Given the description of an element on the screen output the (x, y) to click on. 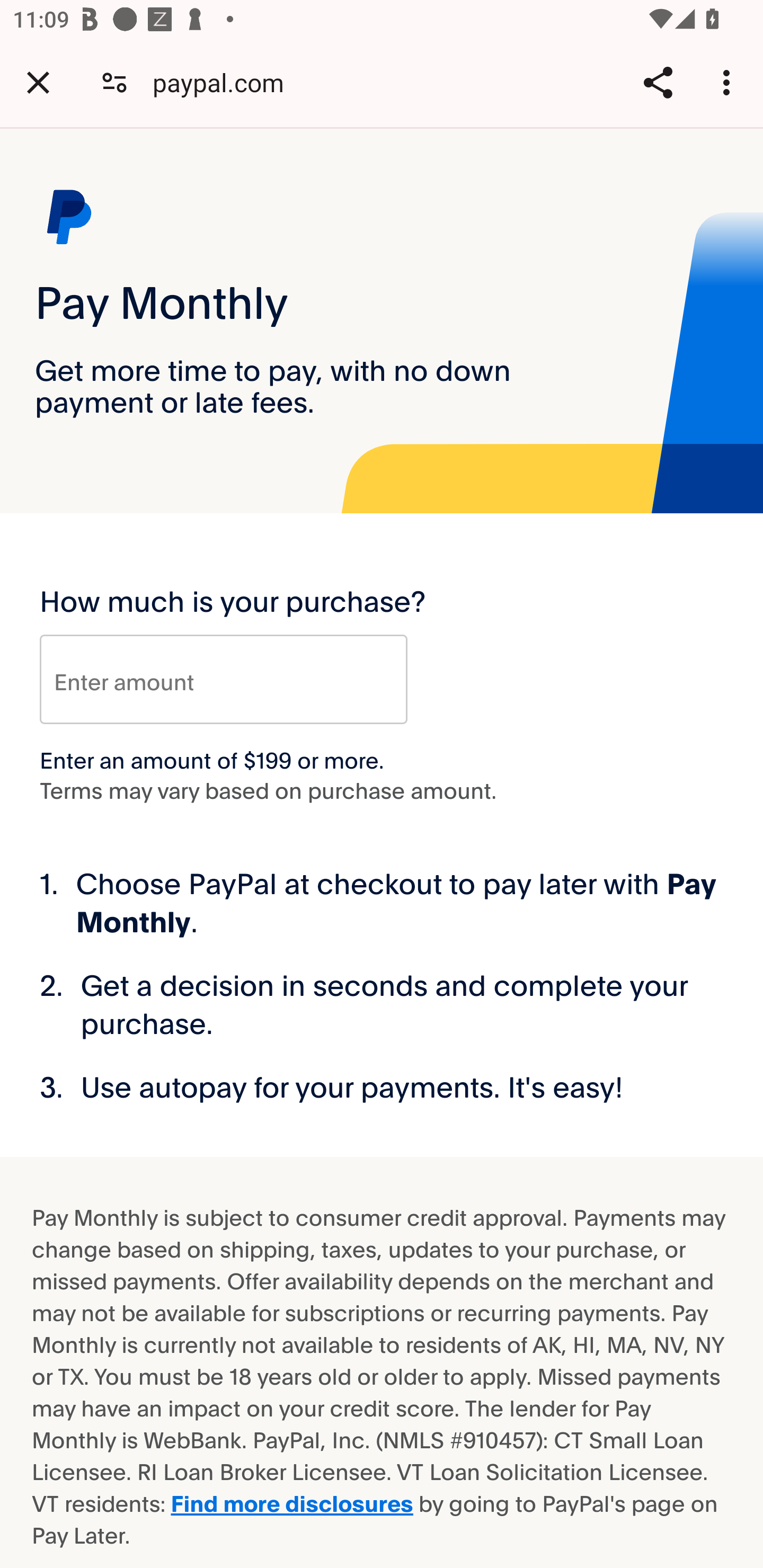
Close tab (38, 82)
Share (657, 82)
Customize and control Google Chrome (729, 82)
Connection is secure (114, 81)
paypal.com (224, 81)
